Given the description of an element on the screen output the (x, y) to click on. 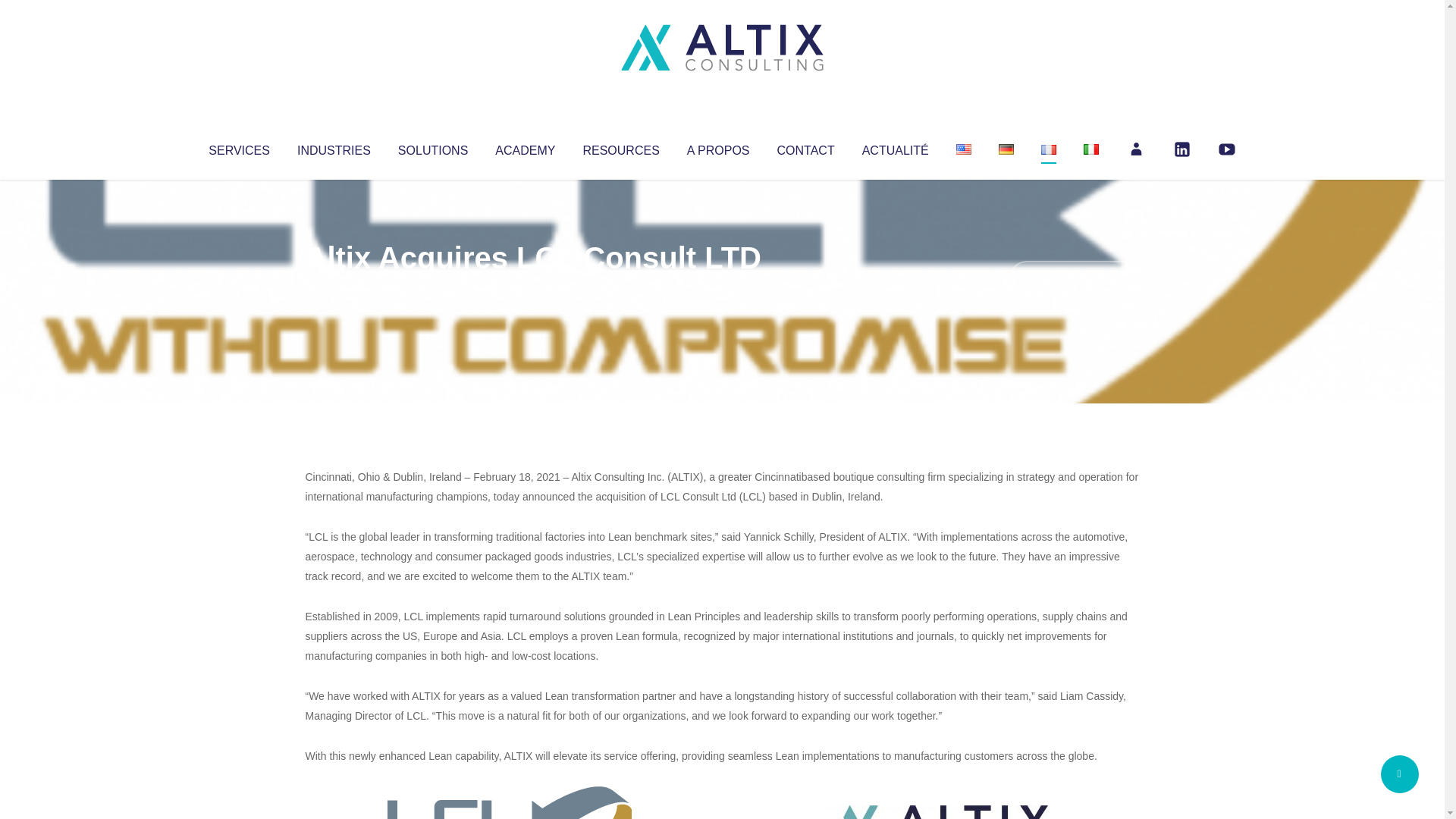
No Comments (1073, 278)
Altix (333, 287)
SERVICES (238, 146)
INDUSTRIES (334, 146)
Uncategorized (530, 287)
A PROPOS (718, 146)
RESOURCES (620, 146)
Articles par Altix (333, 287)
SOLUTIONS (432, 146)
ACADEMY (524, 146)
